Given the description of an element on the screen output the (x, y) to click on. 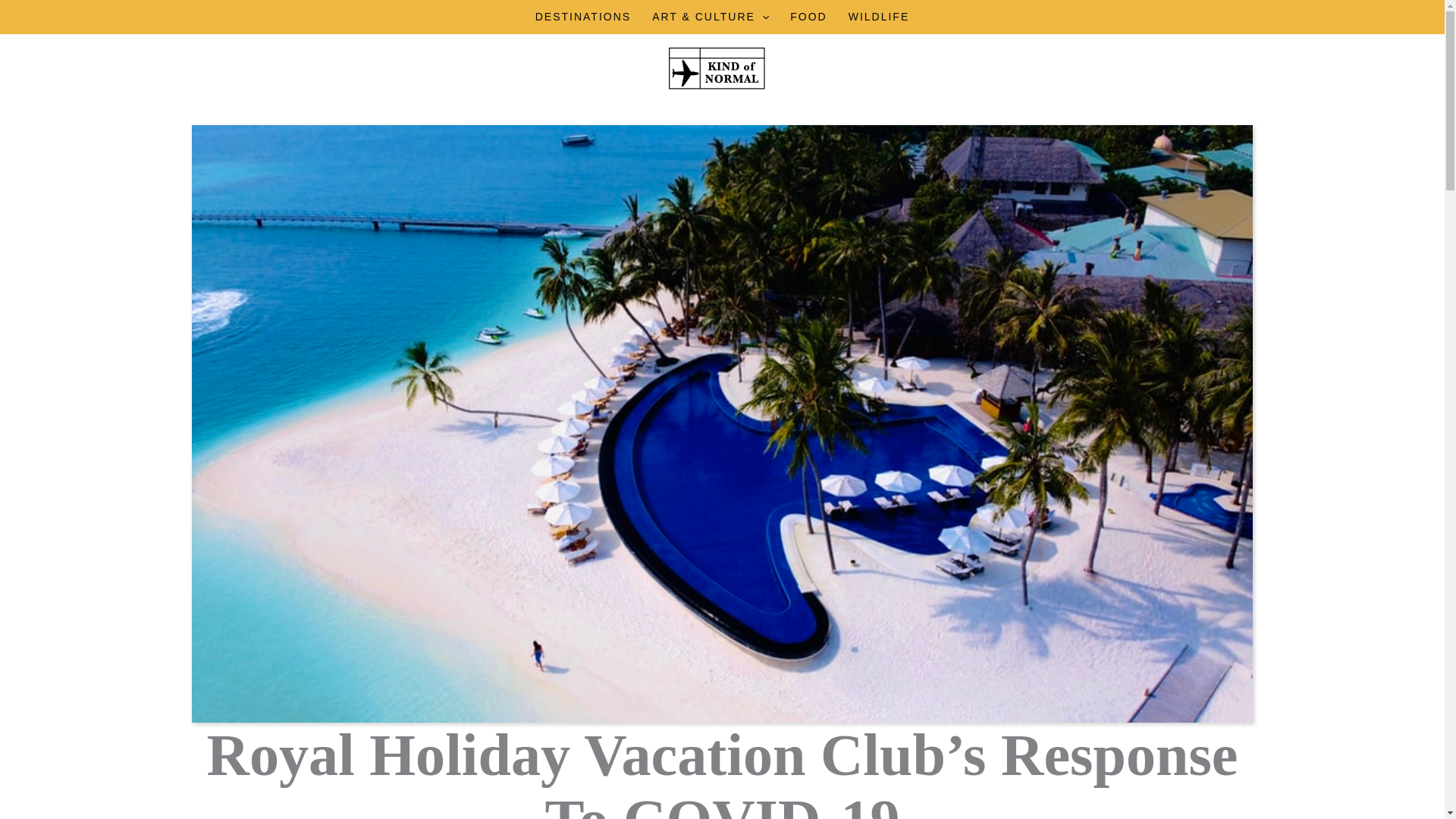
WILDLIFE (879, 17)
FOOD (807, 17)
DESTINATIONS (583, 17)
